Given the description of an element on the screen output the (x, y) to click on. 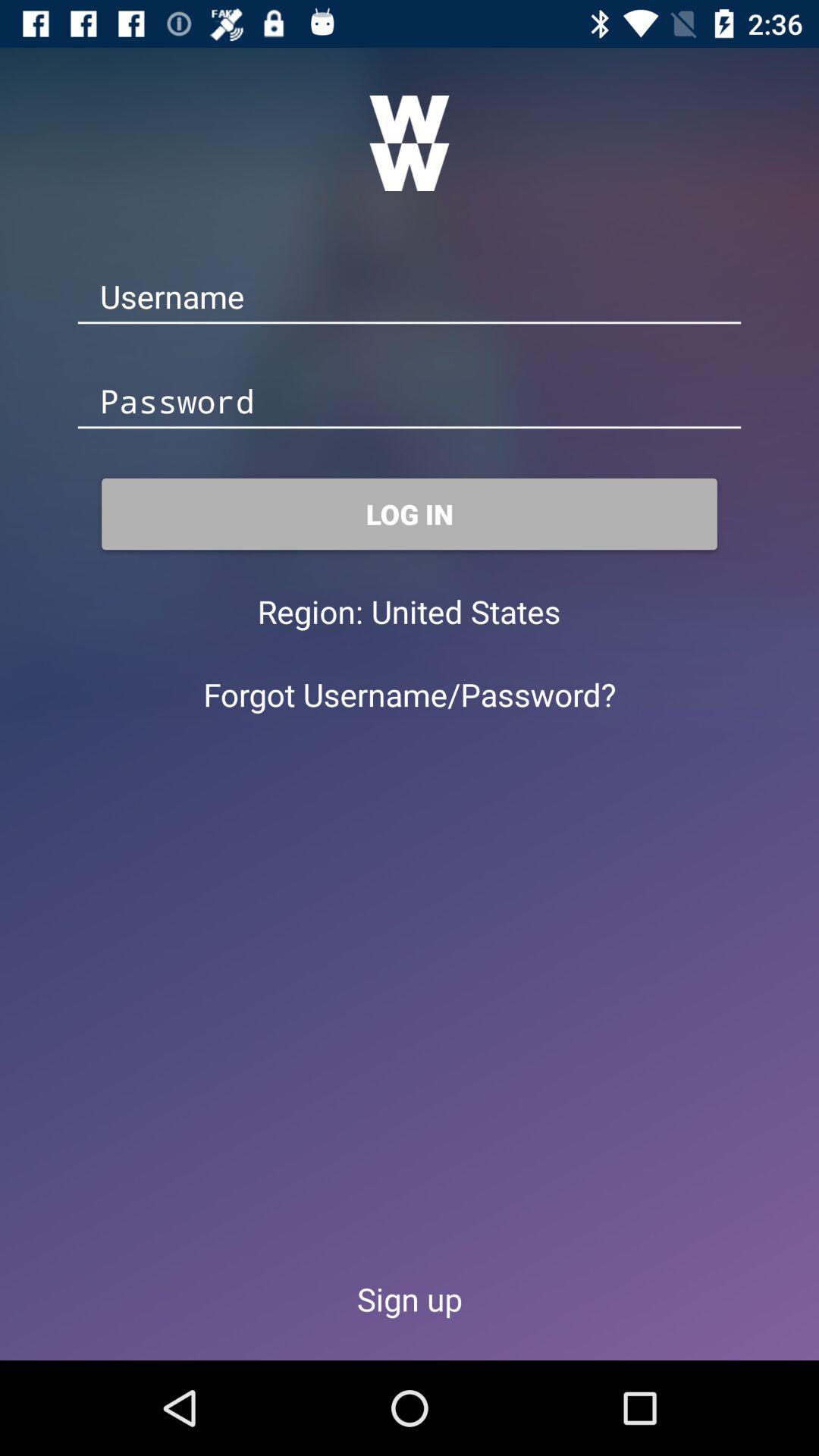
enter username (409, 297)
